Given the description of an element on the screen output the (x, y) to click on. 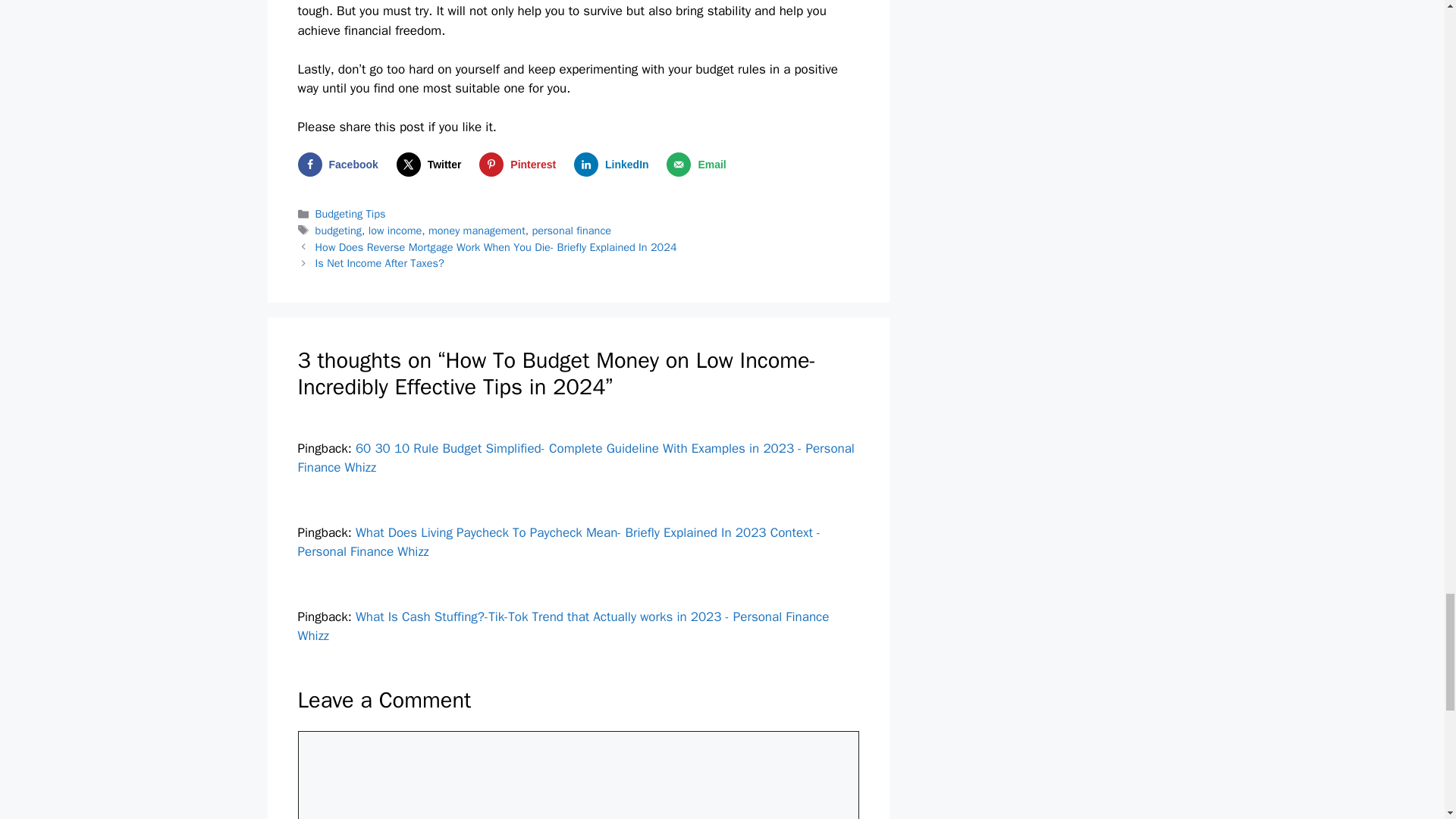
Share on Facebook (340, 164)
Share on X (432, 164)
